Given the description of an element on the screen output the (x, y) to click on. 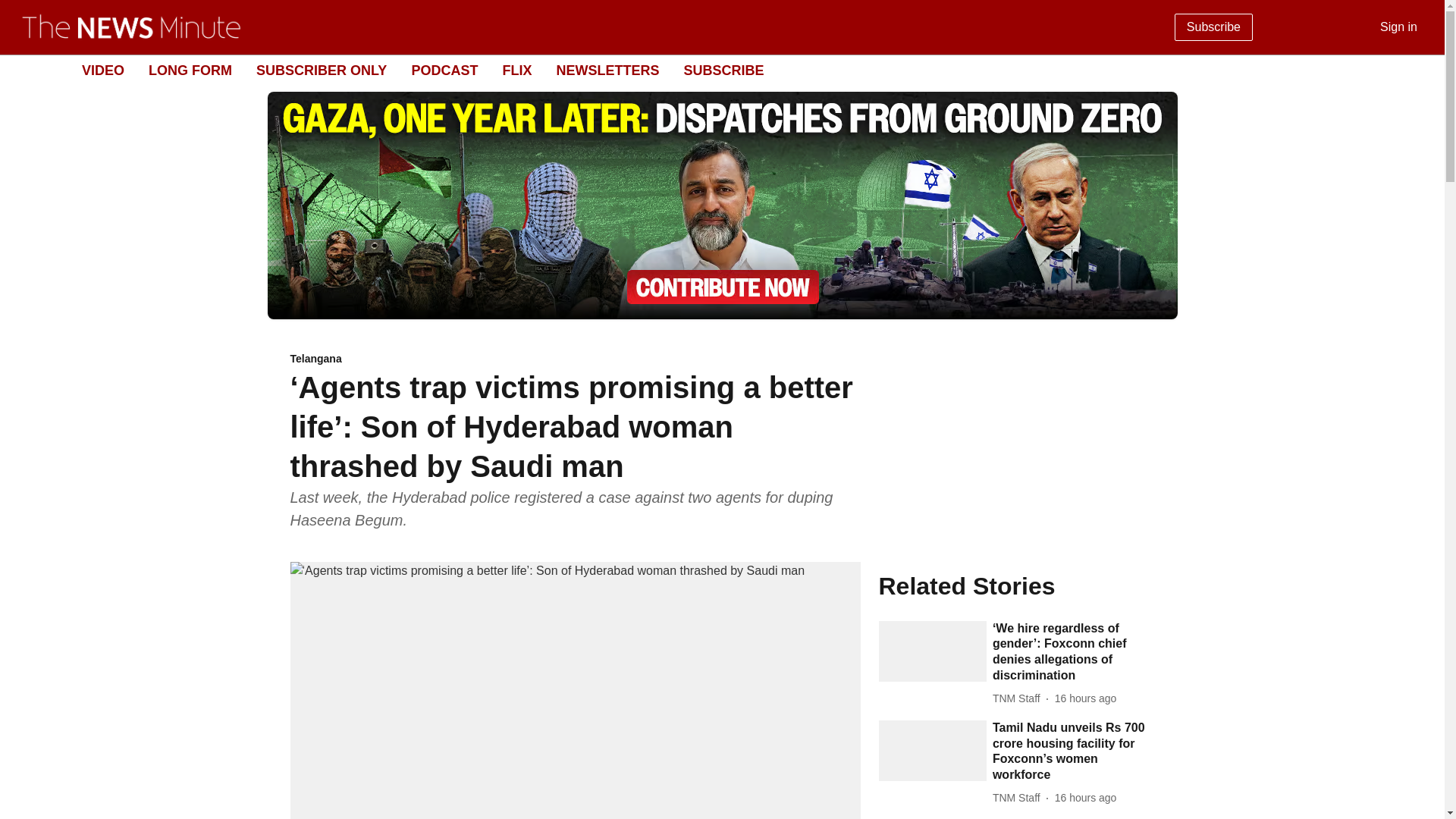
VIDEO (102, 70)
TNM Staff (1019, 797)
Related Stories (1015, 585)
SUBSCRIBE (722, 70)
NEWSLETTERS (607, 70)
Dark Mode (1415, 70)
LONG FORM (189, 70)
2024-08-18 13:37 (1085, 698)
2024-08-18 13:34 (1085, 797)
